Given the description of an element on the screen output the (x, y) to click on. 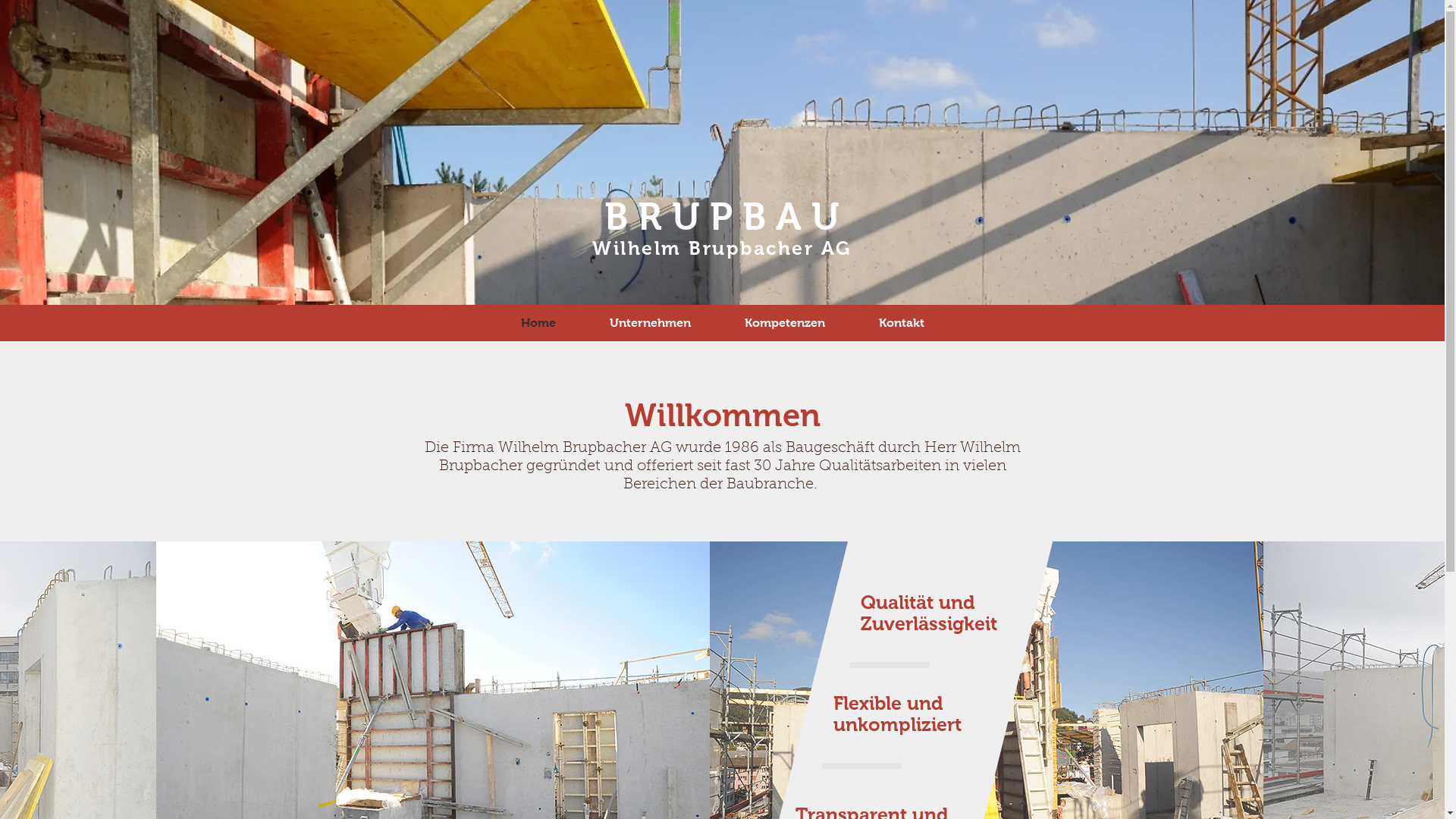
Unternehmen Element type: text (649, 322)
Kontakt Element type: text (901, 322)
Home Element type: text (538, 322)
Kompetenzen Element type: text (784, 322)
